Given the description of an element on the screen output the (x, y) to click on. 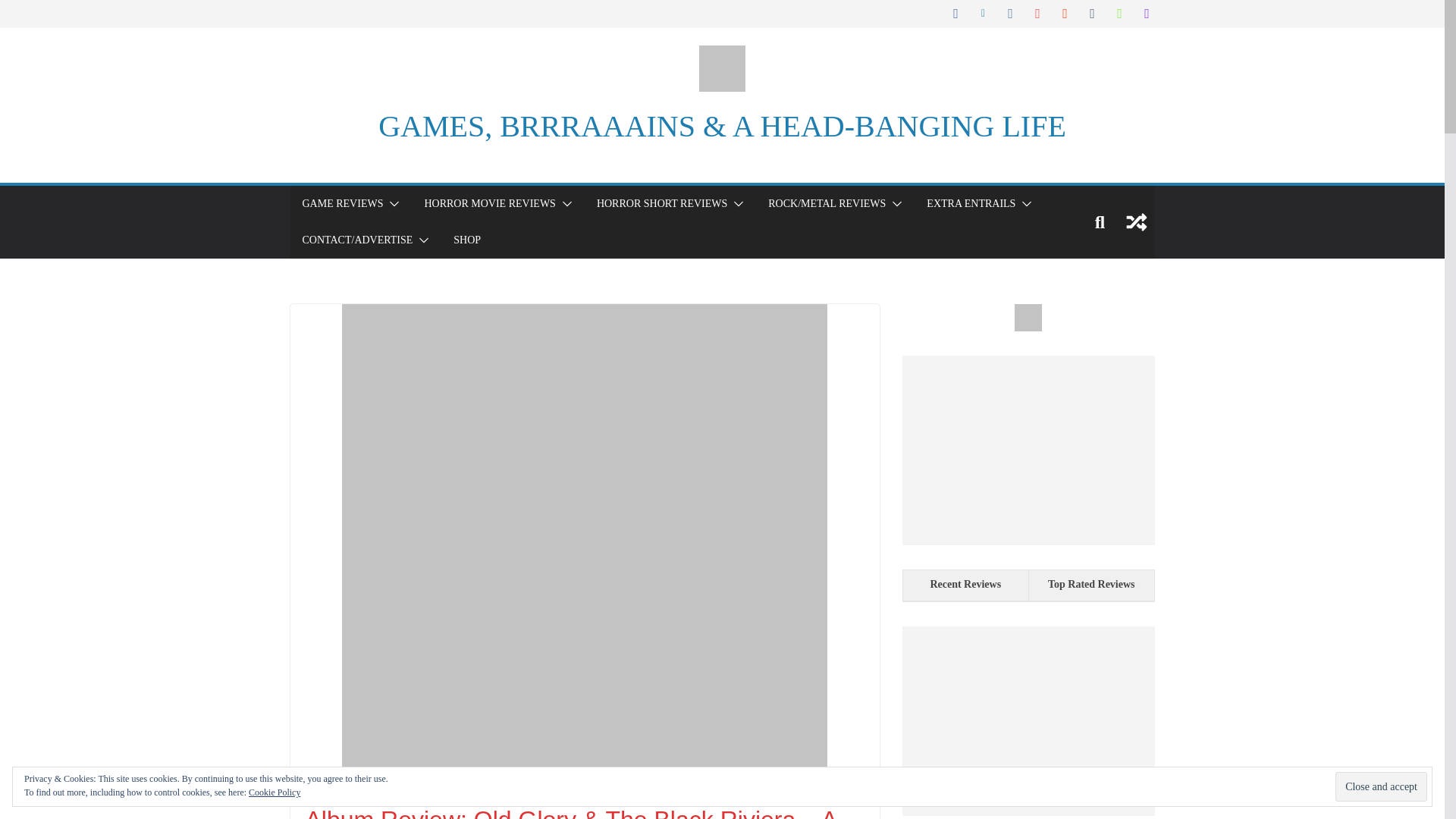
View a random post (1136, 221)
HORROR MOVIE REVIEWS (488, 203)
Close and accept (1380, 786)
GAME REVIEWS (341, 203)
Advertisement (1027, 720)
Advertisement (1027, 450)
